Given the description of an element on the screen output the (x, y) to click on. 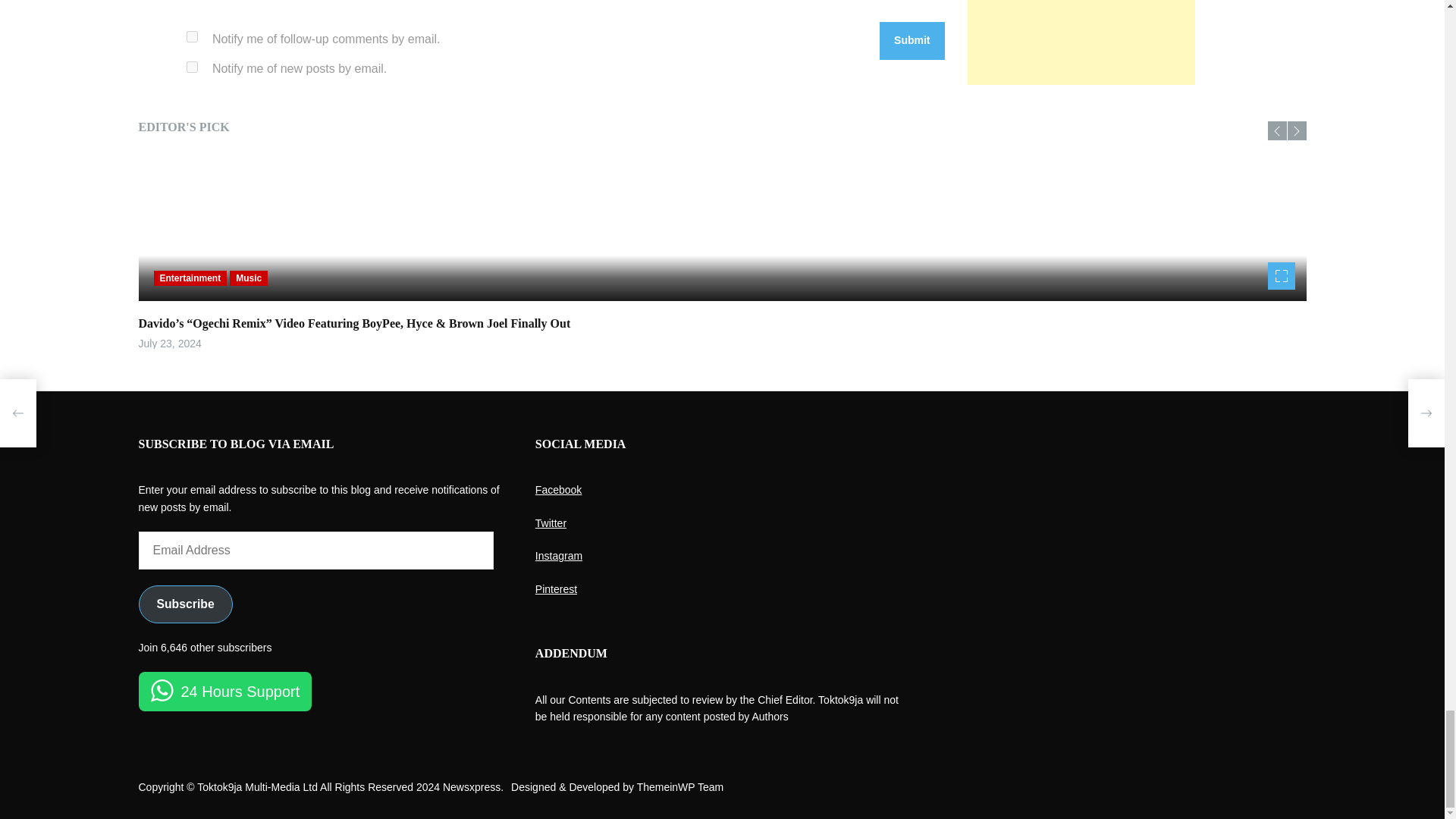
subscribe (192, 66)
subscribe (192, 36)
Submit (911, 40)
